Given the description of an element on the screen output the (x, y) to click on. 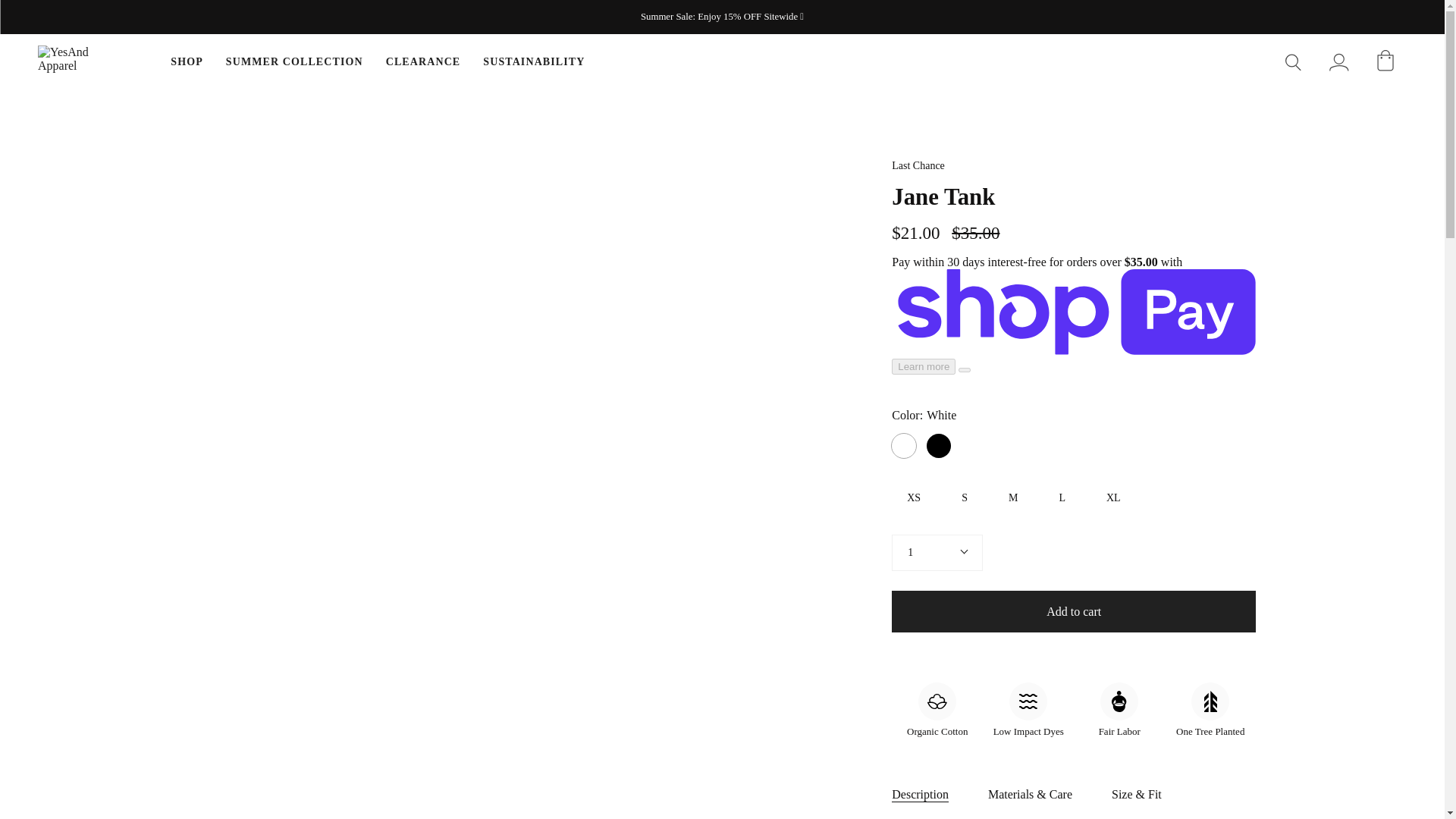
CLEARANCE (422, 62)
SUMMER COLLECTION (294, 62)
SUSTAINABILITY (533, 62)
SHOP (186, 62)
